Given the description of an element on the screen output the (x, y) to click on. 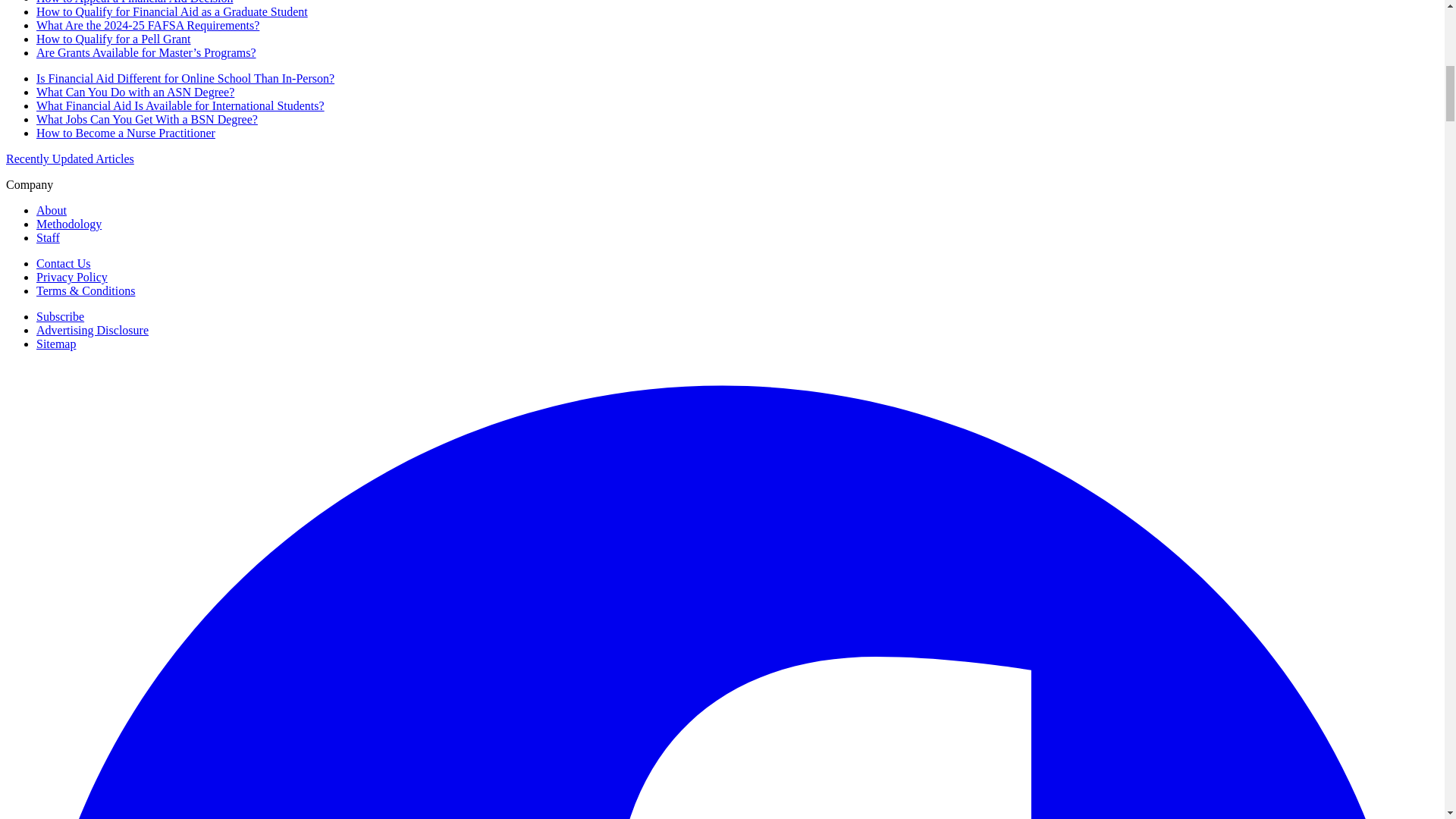
How to Qualify for a Pell Grant (113, 38)
Methodology (68, 223)
How to Qualify for Financial Aid as a Graduate Student (171, 11)
How to Appeal a Financial Aid Decision (134, 2)
Staff (47, 237)
About (51, 210)
Contact Us (63, 263)
Subscribe (60, 316)
Sitemap (55, 343)
What Jobs Can You Get With a BSN Degree? (146, 119)
